Given the description of an element on the screen output the (x, y) to click on. 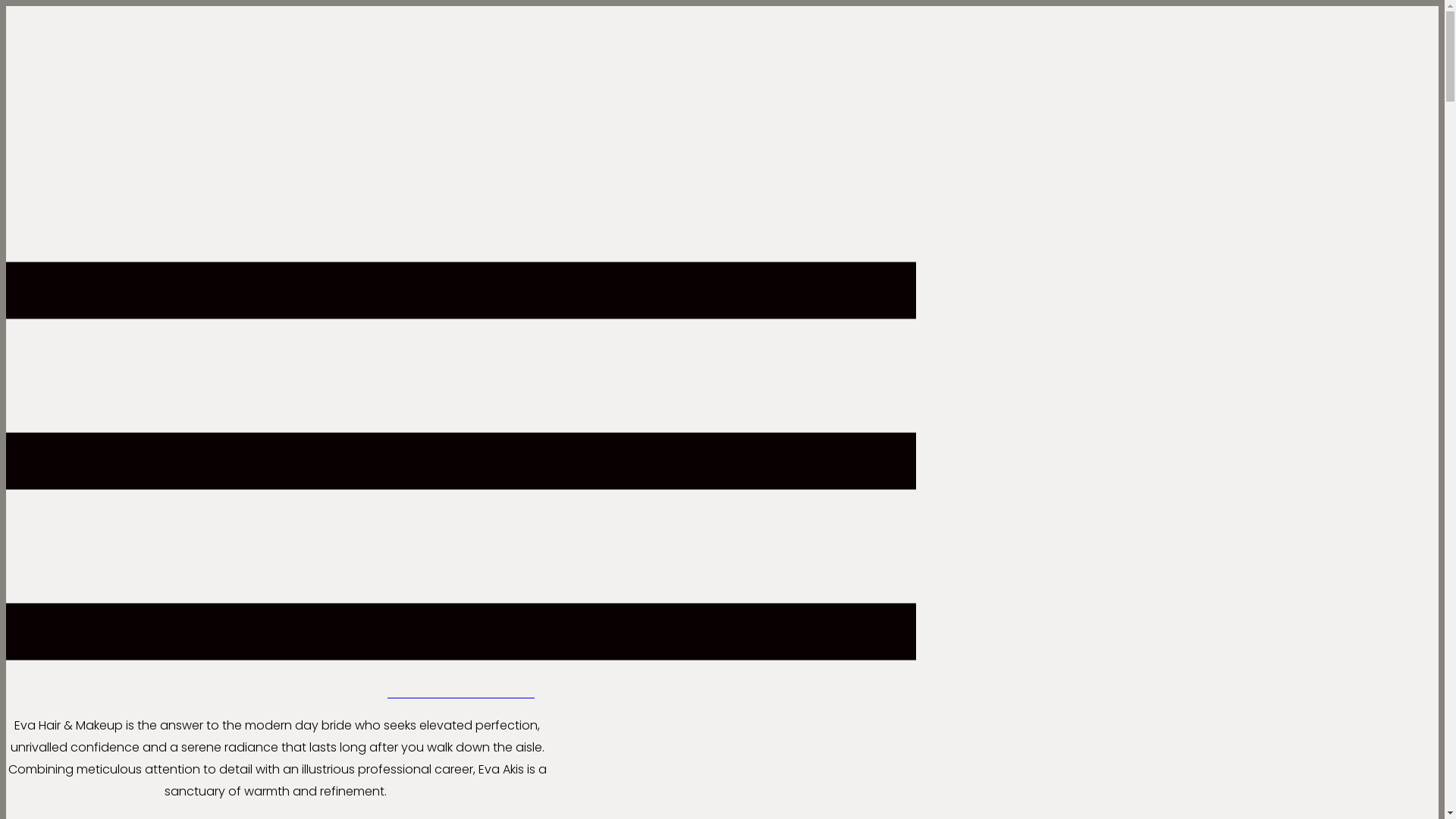
BRIDAL SERVICES Element type: text (461, 693)
